Given the description of an element on the screen output the (x, y) to click on. 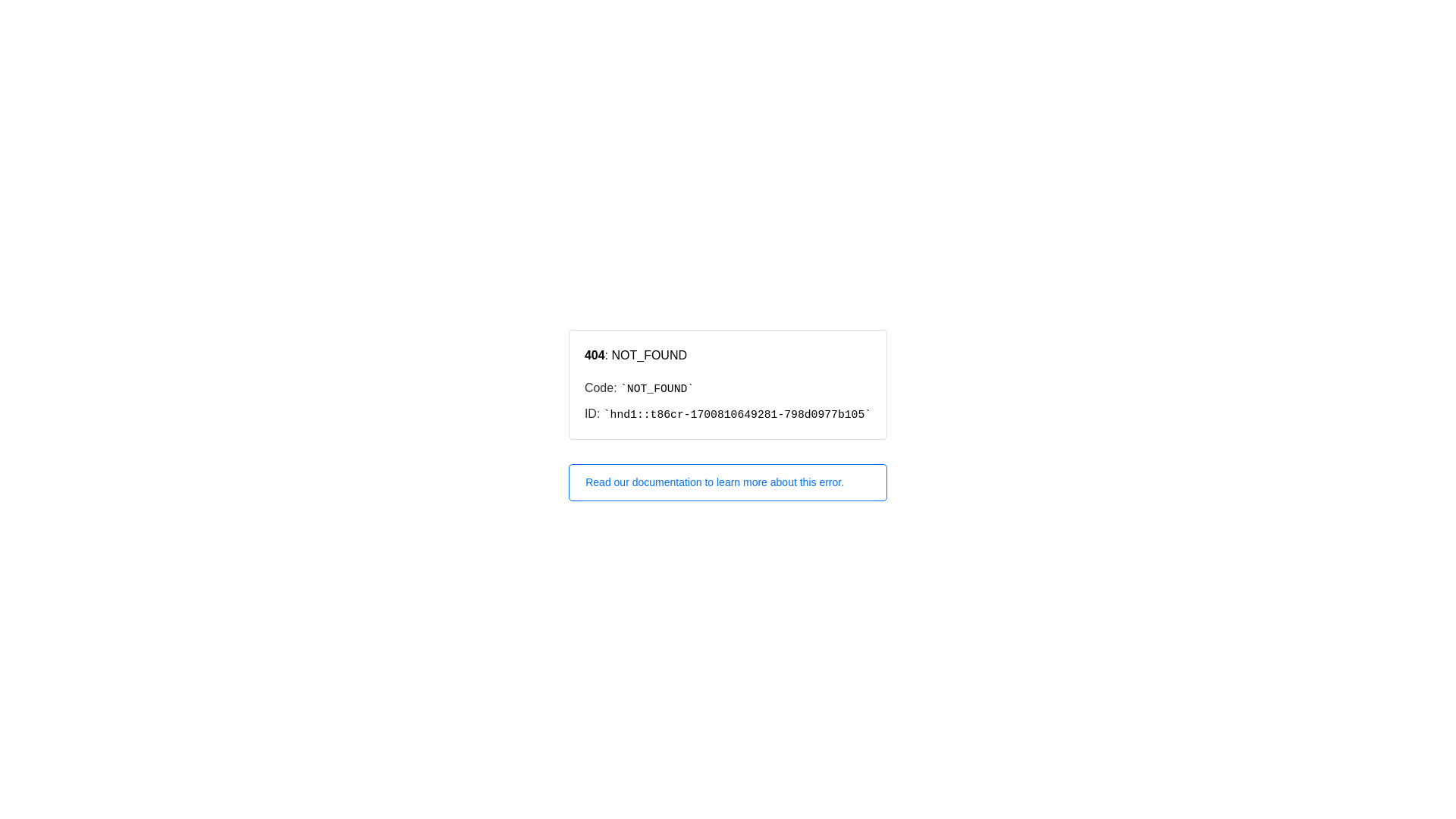
Read our documentation to learn more about this error. Element type: text (727, 482)
